Given the description of an element on the screen output the (x, y) to click on. 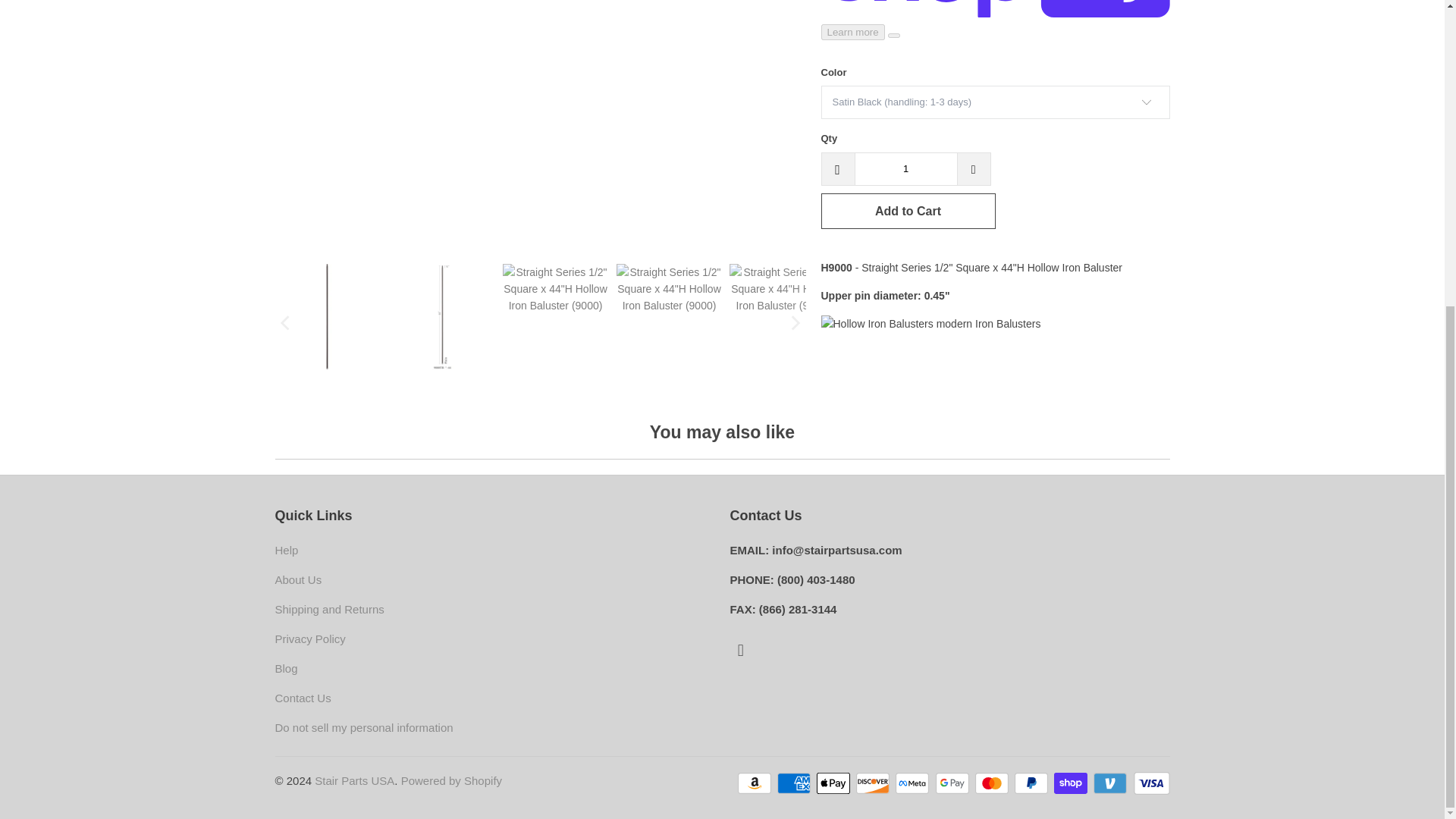
Email Stair Parts USA (740, 650)
Amazon (756, 783)
Mastercard (993, 783)
Meta Pay (913, 783)
1 (904, 168)
Venmo (1111, 783)
American Express (795, 783)
Google Pay (954, 783)
Visa (1150, 783)
Discover (874, 783)
Shop Pay (1072, 783)
Apple Pay (834, 783)
PayPal (1032, 783)
